Given the description of an element on the screen output the (x, y) to click on. 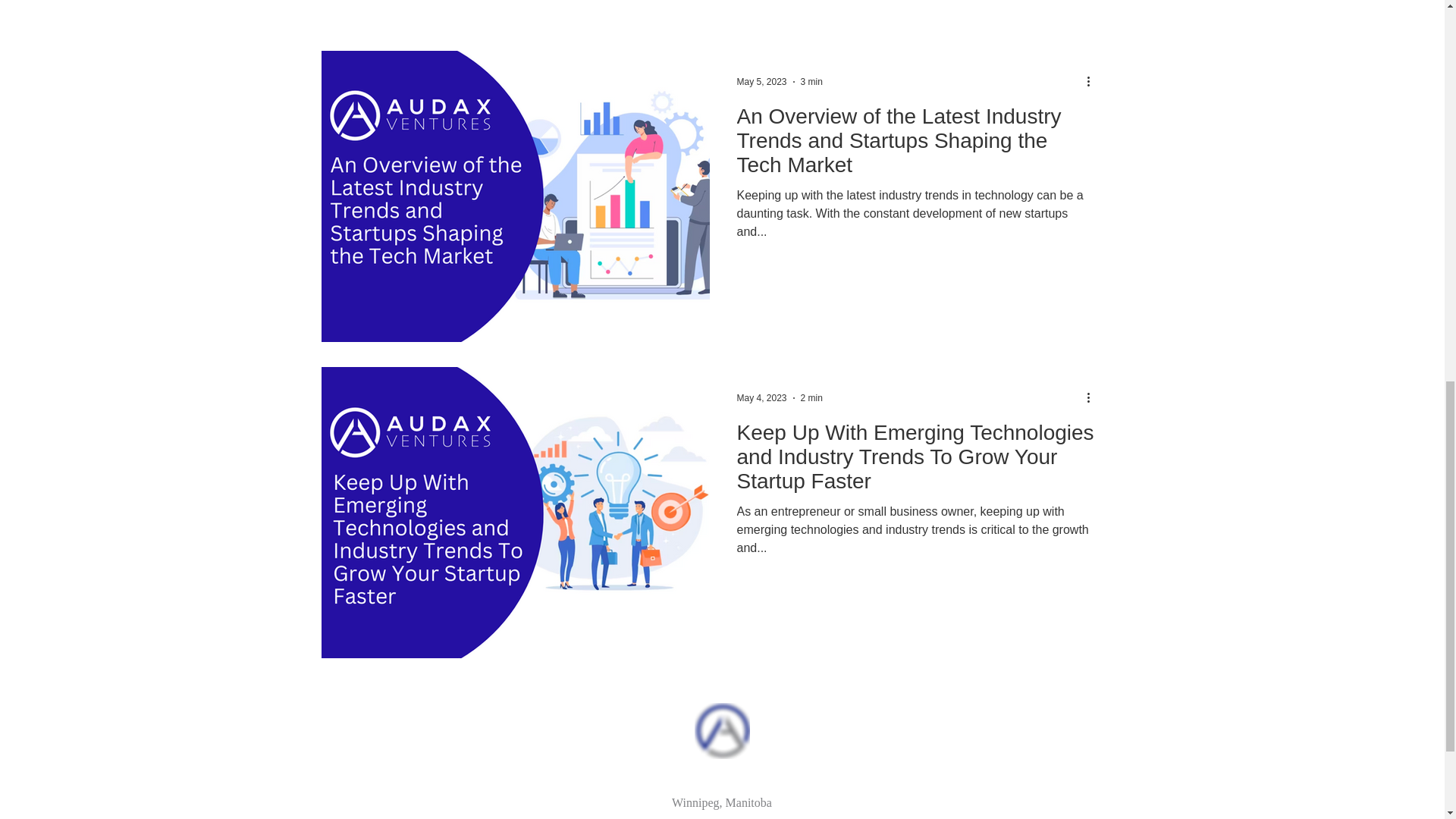
May 5, 2023 (761, 81)
3 min (811, 81)
2 min (811, 398)
May 4, 2023 (761, 398)
